Given the description of an element on the screen output the (x, y) to click on. 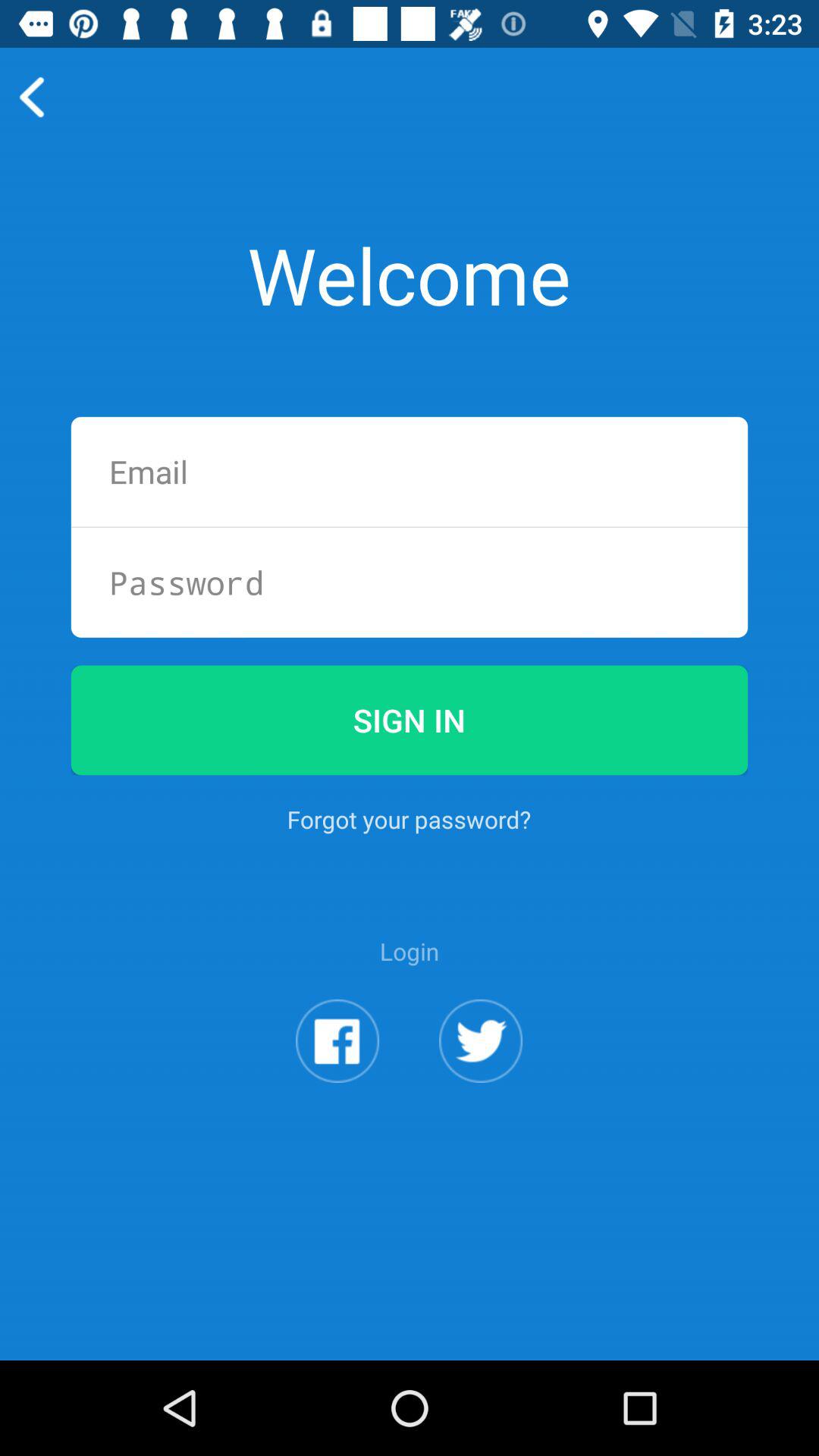
enter email to log in (409, 471)
